Given the description of an element on the screen output the (x, y) to click on. 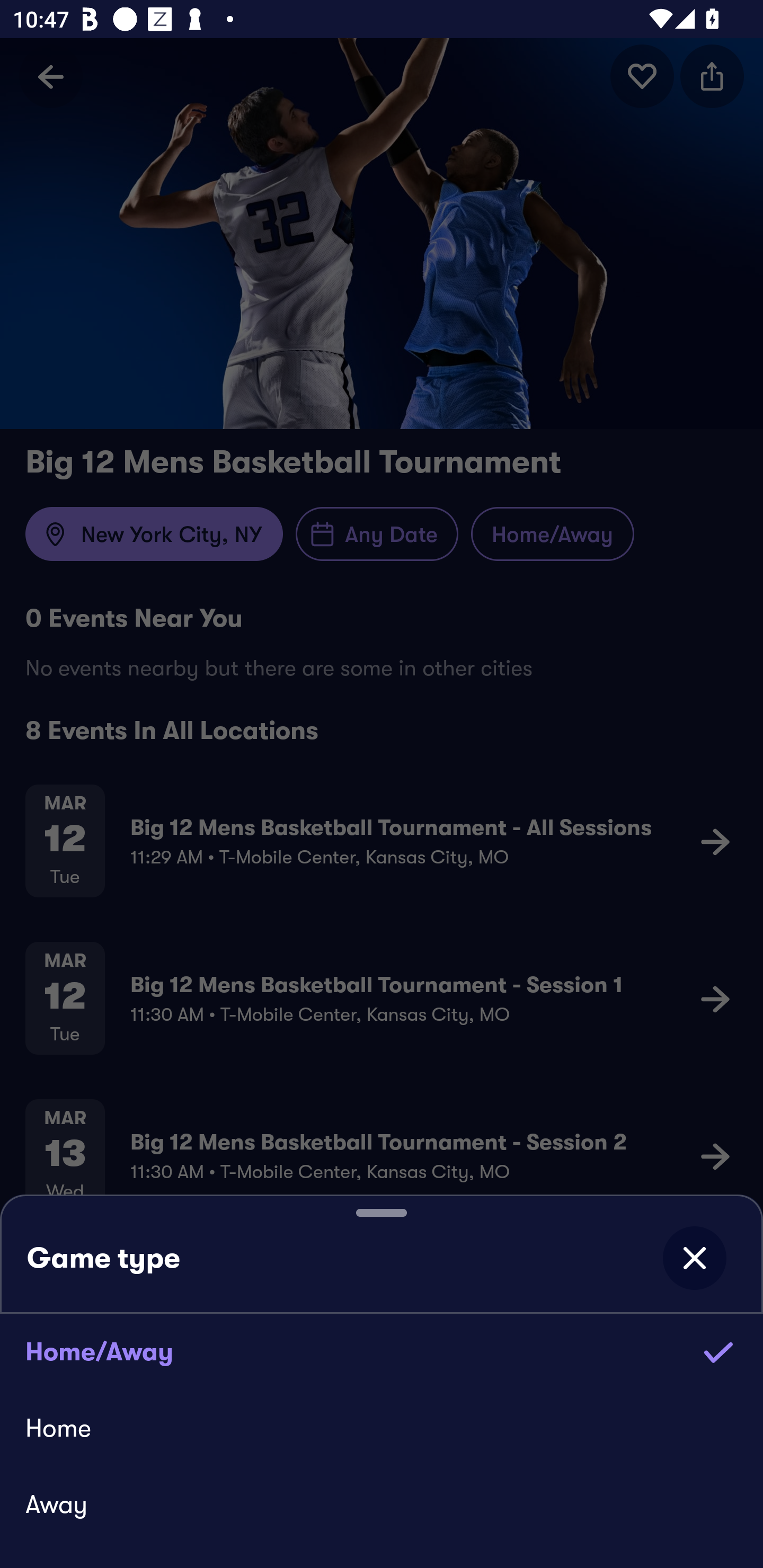
close (694, 1258)
Home/Away (381, 1351)
Home (381, 1427)
Away (381, 1504)
